Given the description of an element on the screen output the (x, y) to click on. 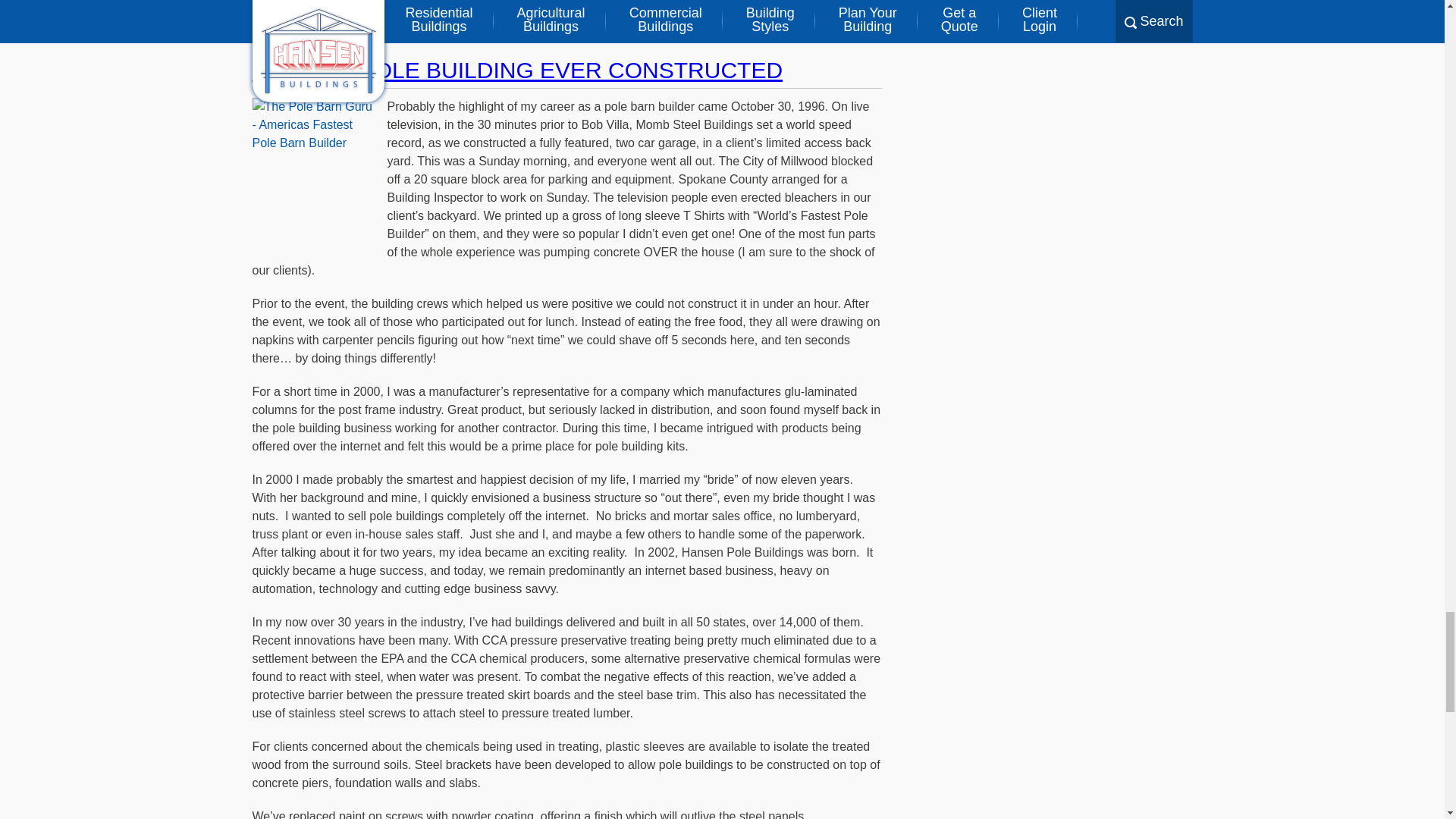
pole-barn-guru-fastest-pole-builder (314, 174)
View all posts by admin (820, 31)
8:00 am (760, 31)
